Given the description of an element on the screen output the (x, y) to click on. 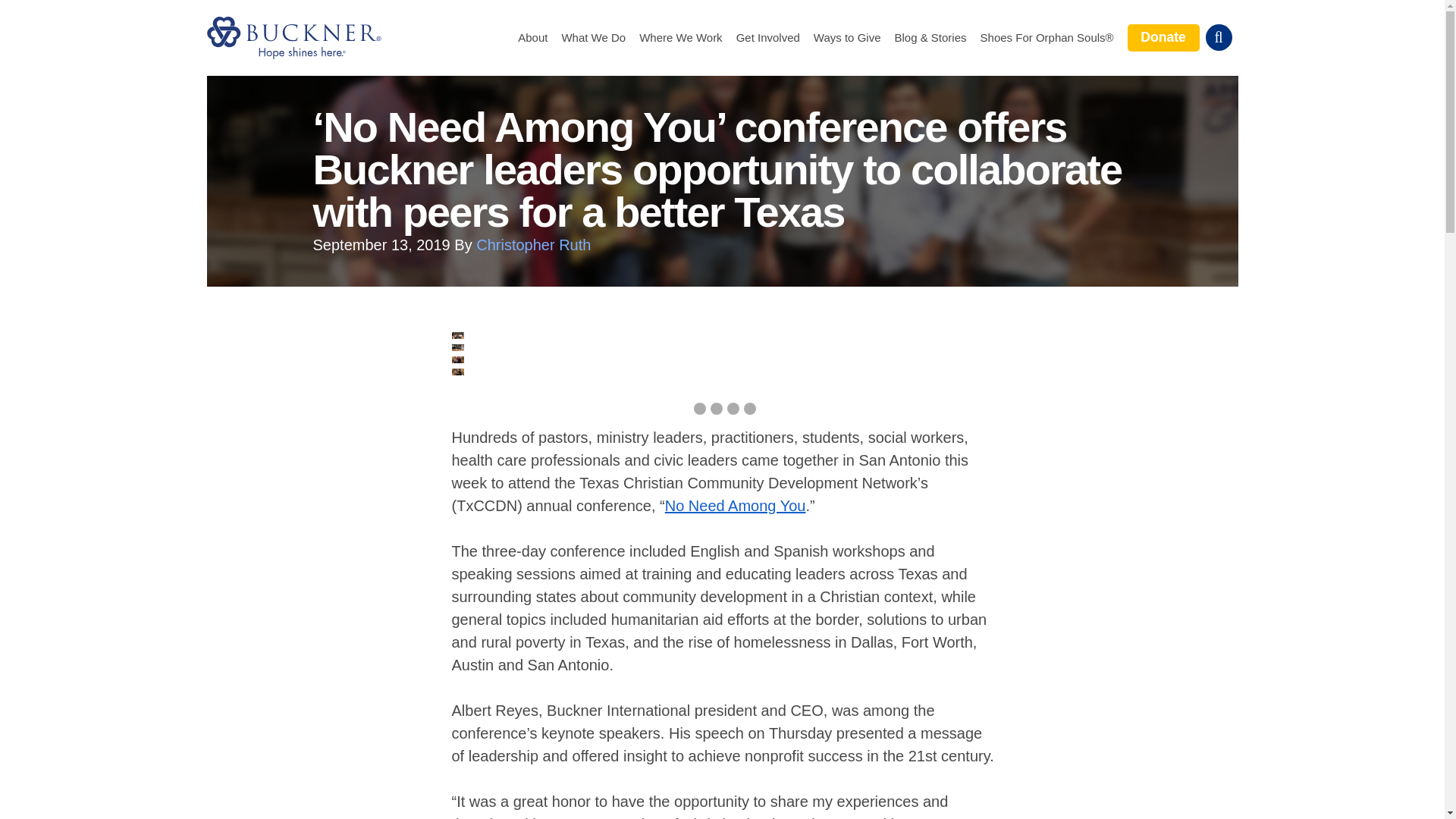
Ways to Give (846, 37)
No Need Among You (735, 505)
Buckner International  (293, 37)
Where We Work (680, 37)
Toggle Search (1218, 37)
Get Involved (767, 37)
Donate (1162, 37)
Christopher Ruth (533, 244)
